Given the description of an element on the screen output the (x, y) to click on. 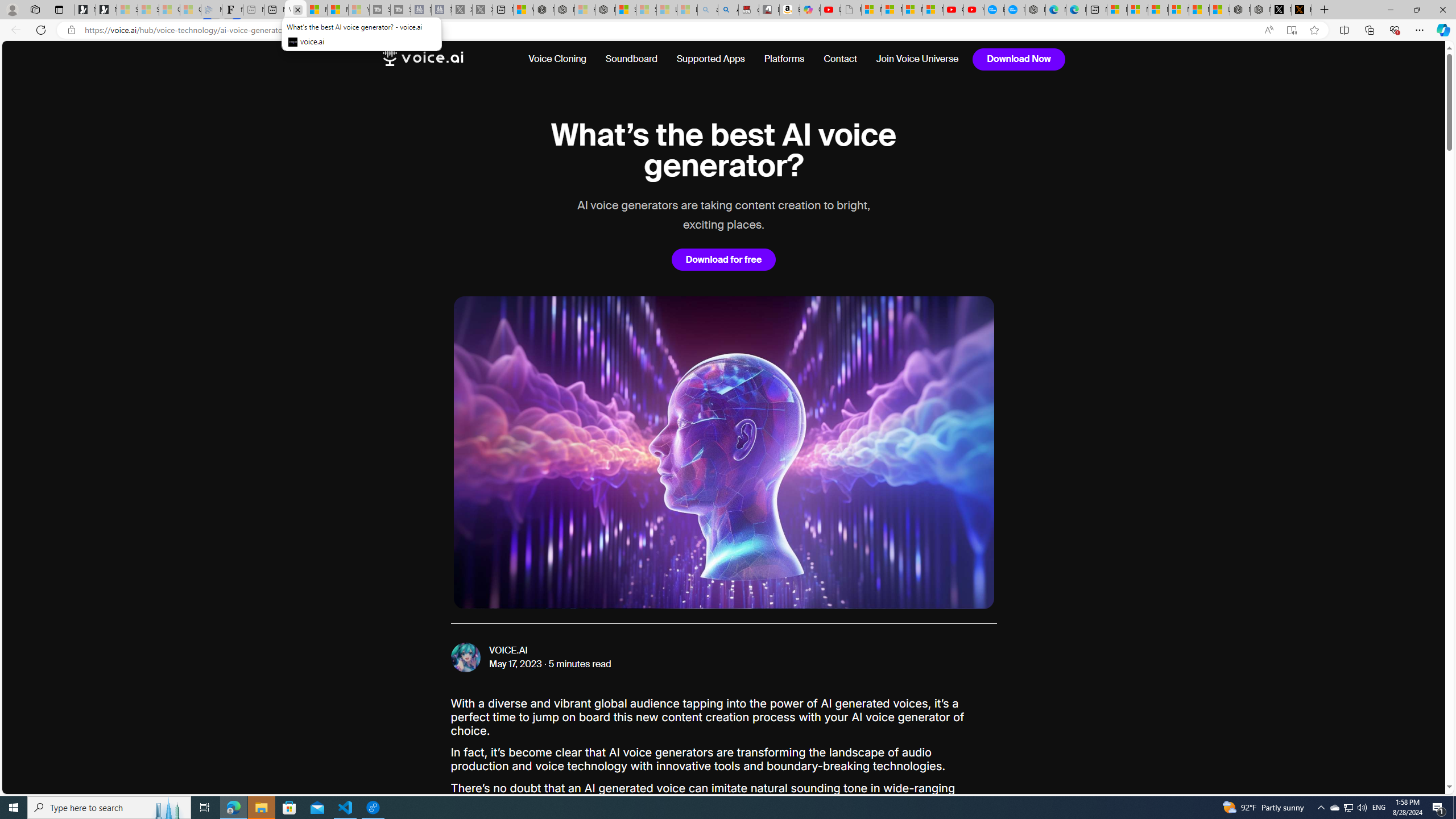
Supported Apps (710, 59)
May 17, 2023 (516, 663)
